Given the description of an element on the screen output the (x, y) to click on. 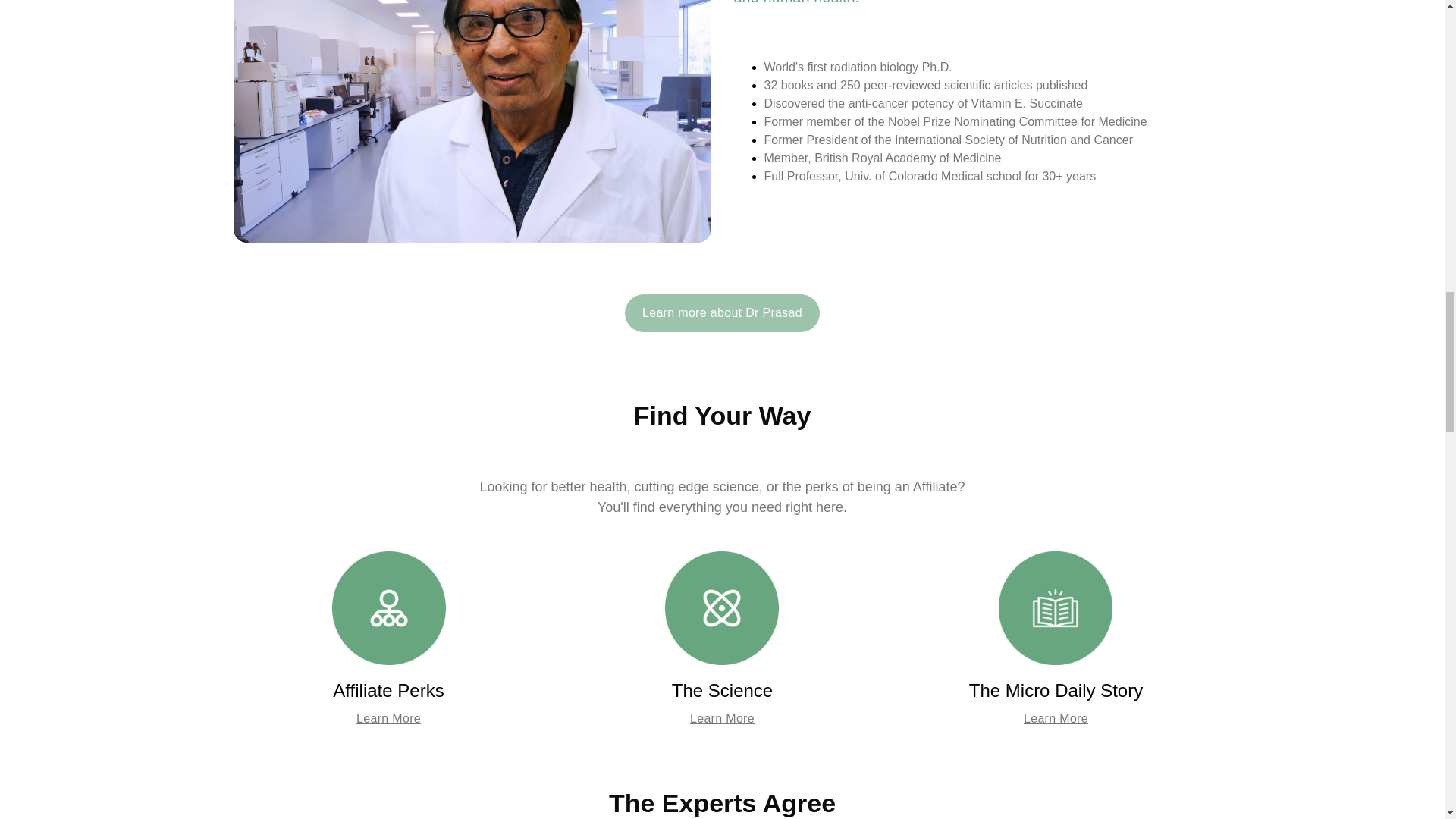
Learn more about Dr Prasad (721, 313)
Learn More (721, 718)
The Science (722, 690)
Learn More (388, 718)
Affiliate Perks (388, 690)
Learn more about Dr Prasad (721, 309)
